Given the description of an element on the screen output the (x, y) to click on. 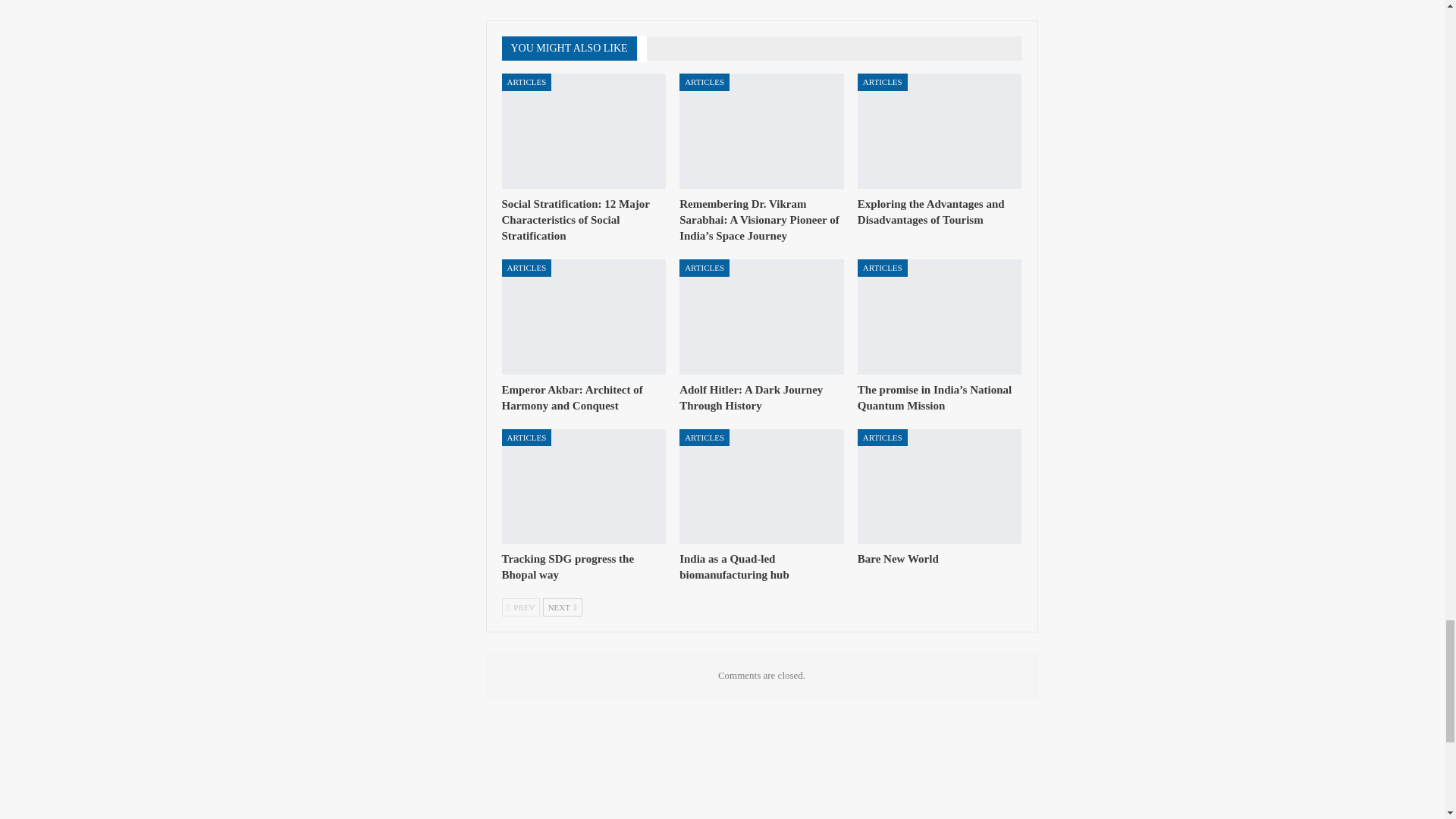
Emperor Akbar: Architect of Harmony and Conquest (584, 316)
Adolf Hitler: A Dark Journey Through History (750, 397)
Exploring the Advantages and Disadvantages of Tourism (939, 131)
Exploring the Advantages and Disadvantages of Tourism (930, 212)
ARTICLES (526, 267)
Tracking SDG progress the Bhopal way (584, 486)
ARTICLES (704, 81)
Adolf Hitler: A Dark Journey Through History (761, 316)
